Given the description of an element on the screen output the (x, y) to click on. 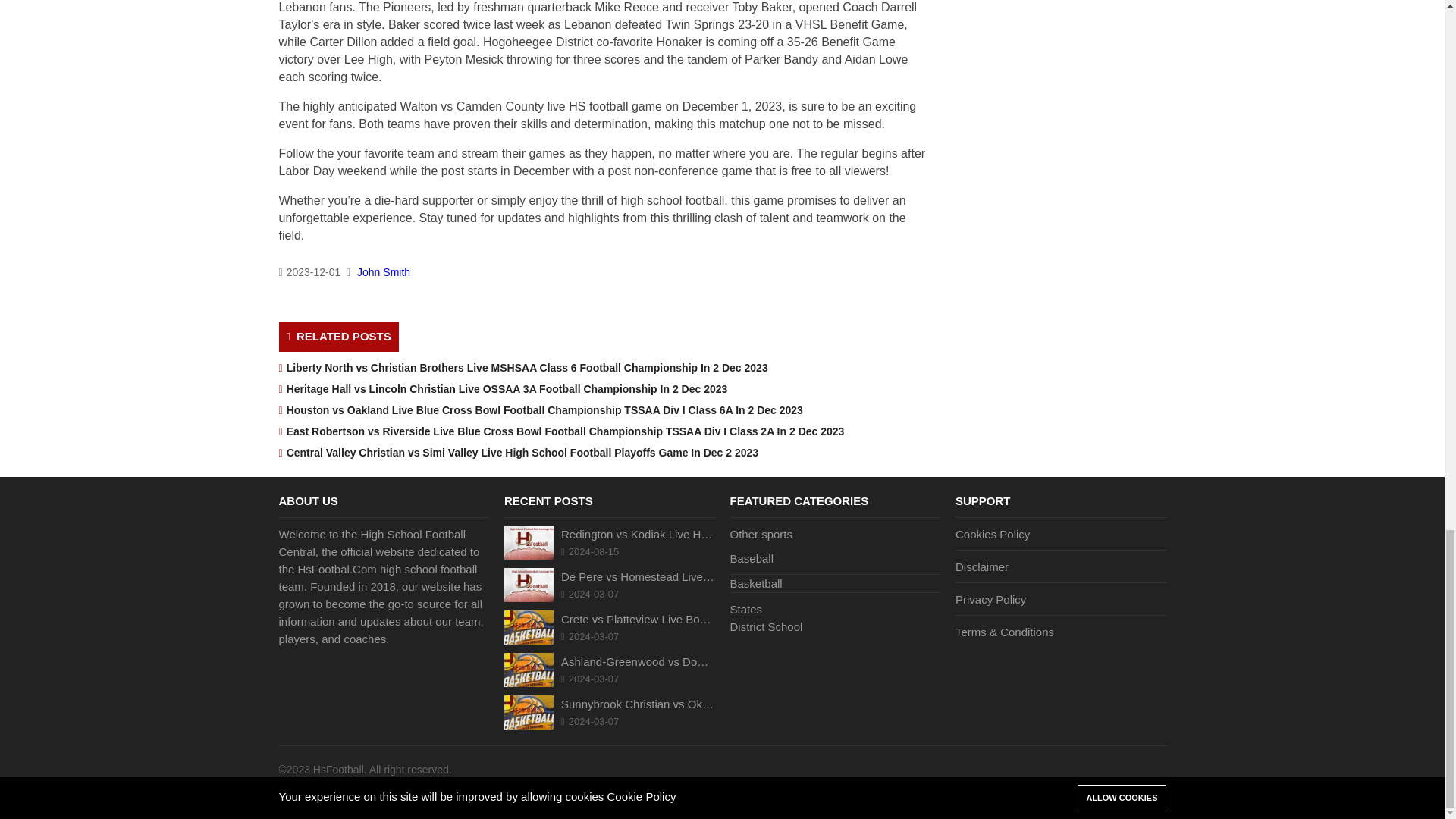
States (834, 605)
Baseball (834, 561)
Cookies Policy (1060, 537)
District School (834, 626)
